Given the description of an element on the screen output the (x, y) to click on. 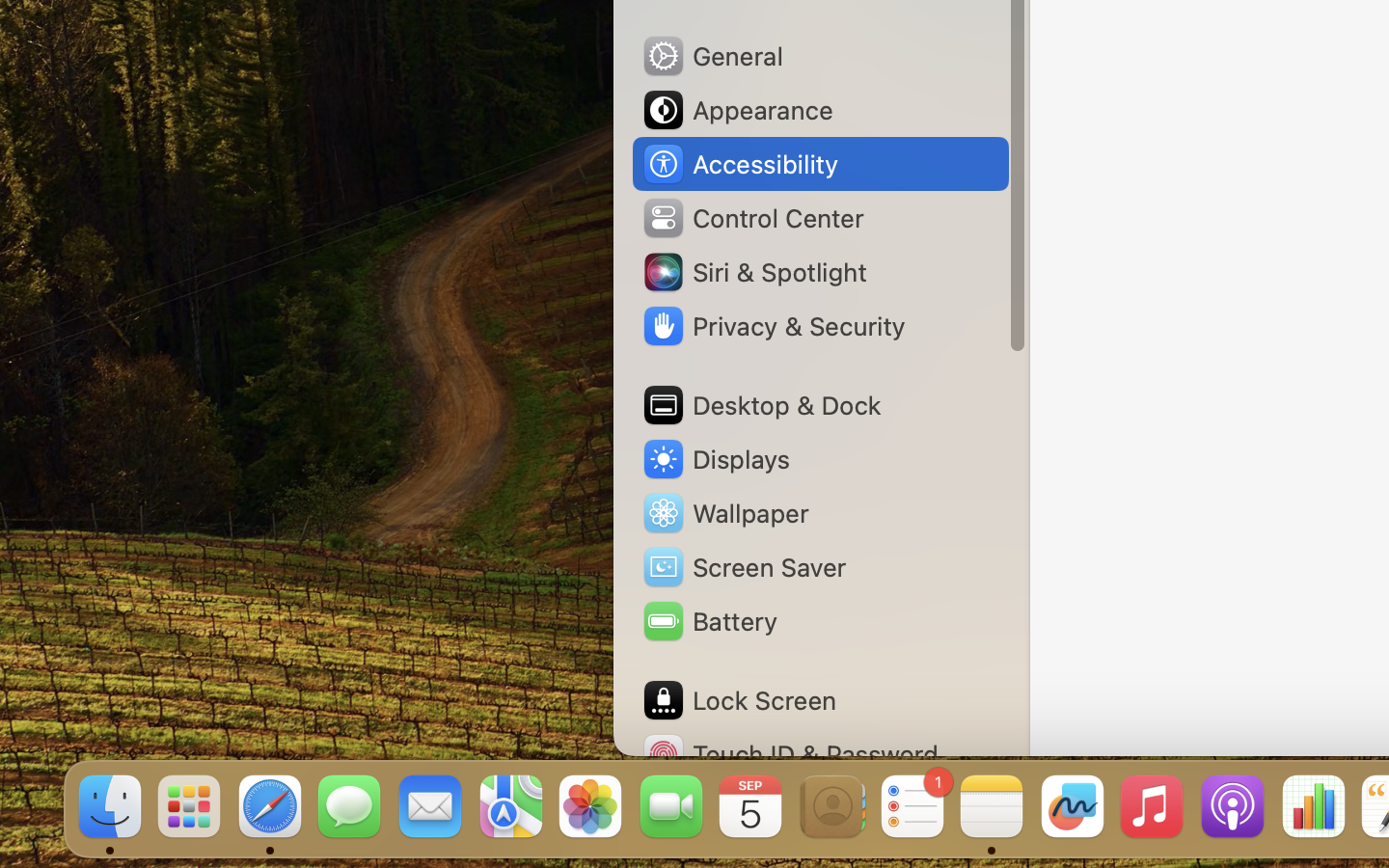
Control Center Element type: AXStaticText (752, 217)
Screen Saver Element type: AXStaticText (743, 566)
Touch ID & Password Element type: AXStaticText (789, 754)
